Given the description of an element on the screen output the (x, y) to click on. 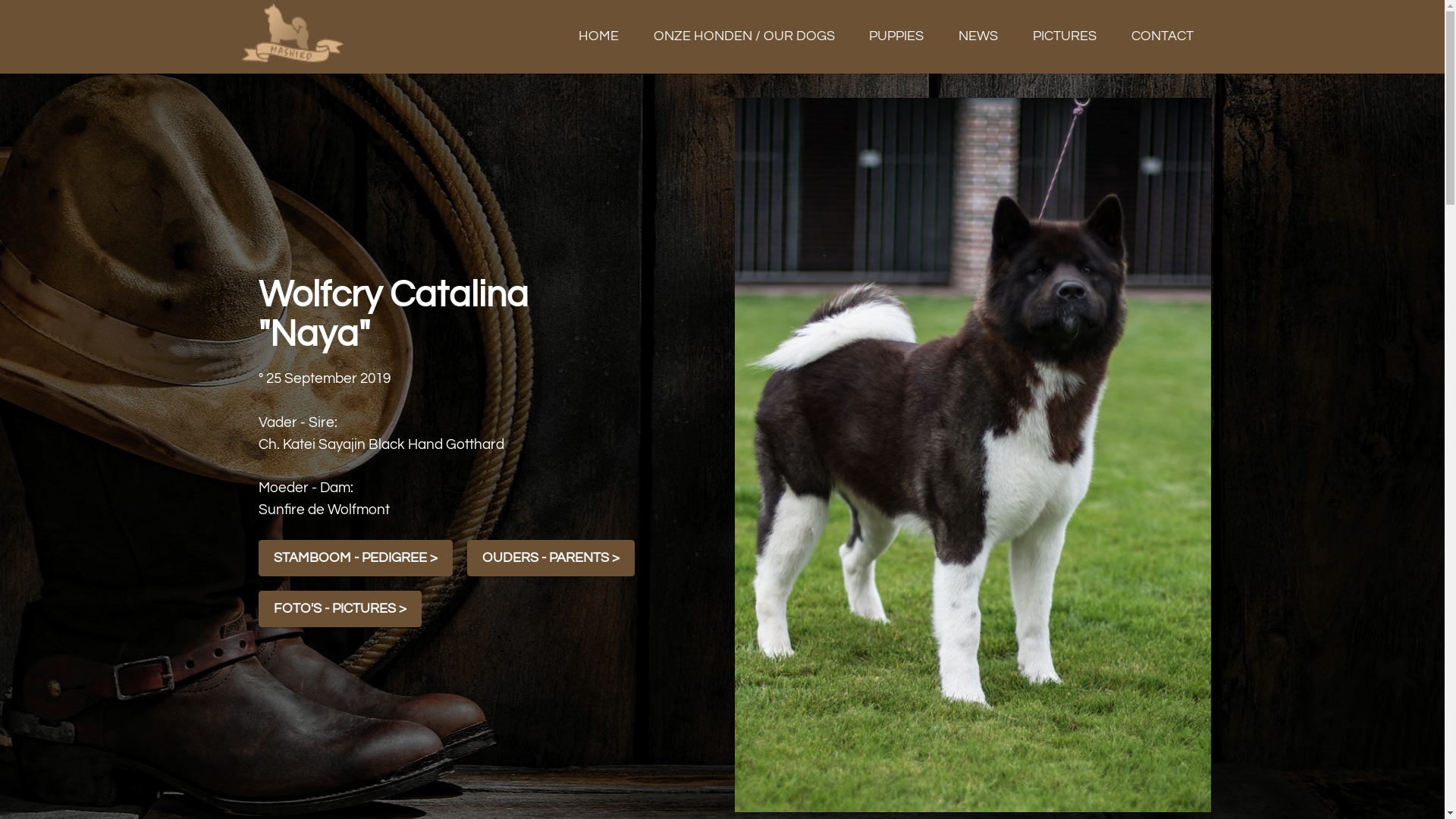
ONZE HONDEN / OUR DOGS Element type: text (743, 36)
CONTACT Element type: text (1161, 36)
STAMBOOM - PEDIGREE > Element type: text (354, 557)
NEWS Element type: text (978, 36)
FOTO'S - PICTURES > Element type: text (338, 608)
OUDERS - PARENTS > Element type: text (550, 557)
PICTURES Element type: text (1065, 36)
PUPPIES Element type: text (896, 36)
HOME Element type: text (598, 36)
